Given the description of an element on the screen output the (x, y) to click on. 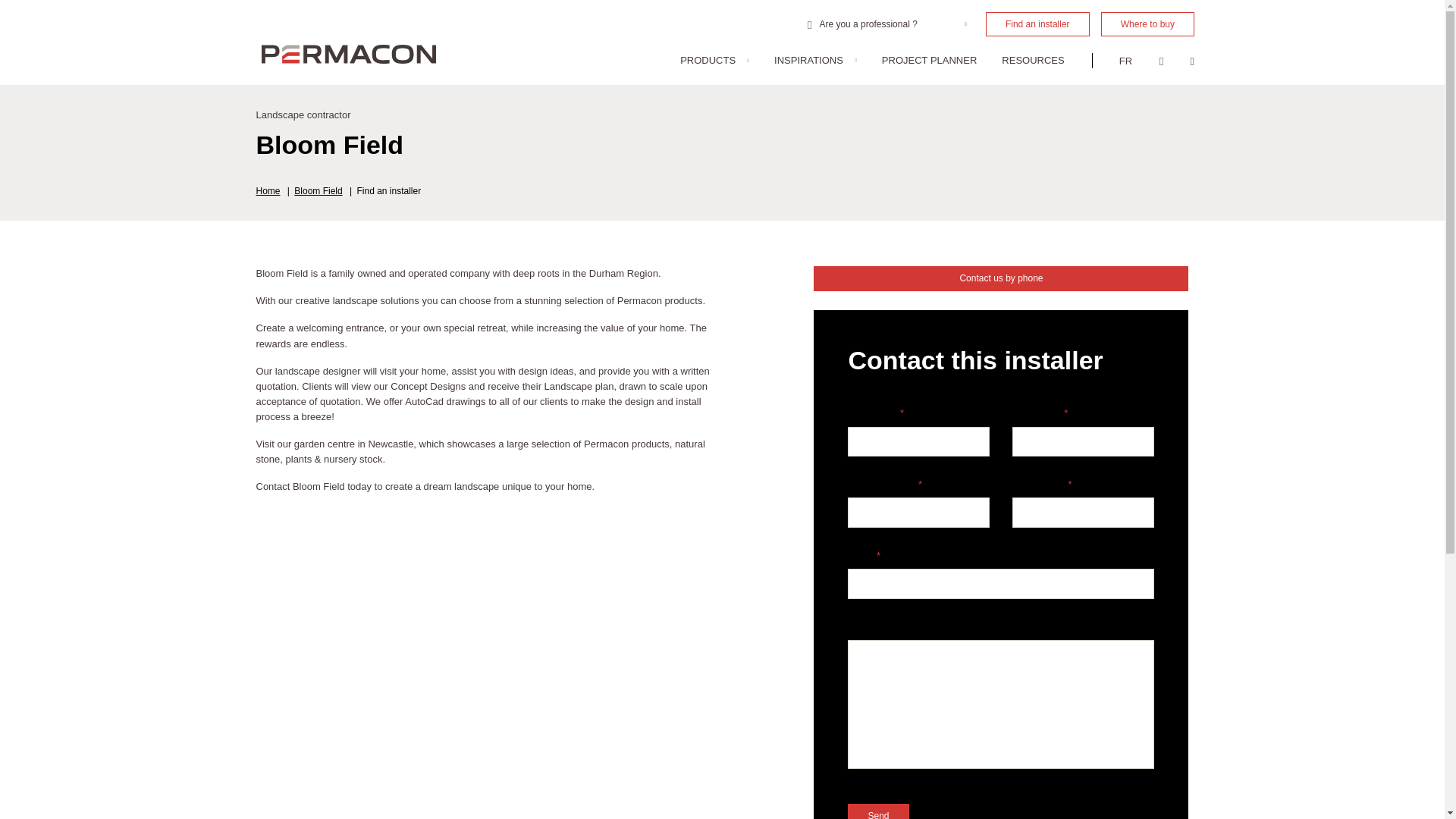
Are you a professional ? (887, 24)
Permacon (348, 54)
Find an installer (1037, 24)
Where to buy (1146, 24)
PRODUCTS (714, 60)
